Given the description of an element on the screen output the (x, y) to click on. 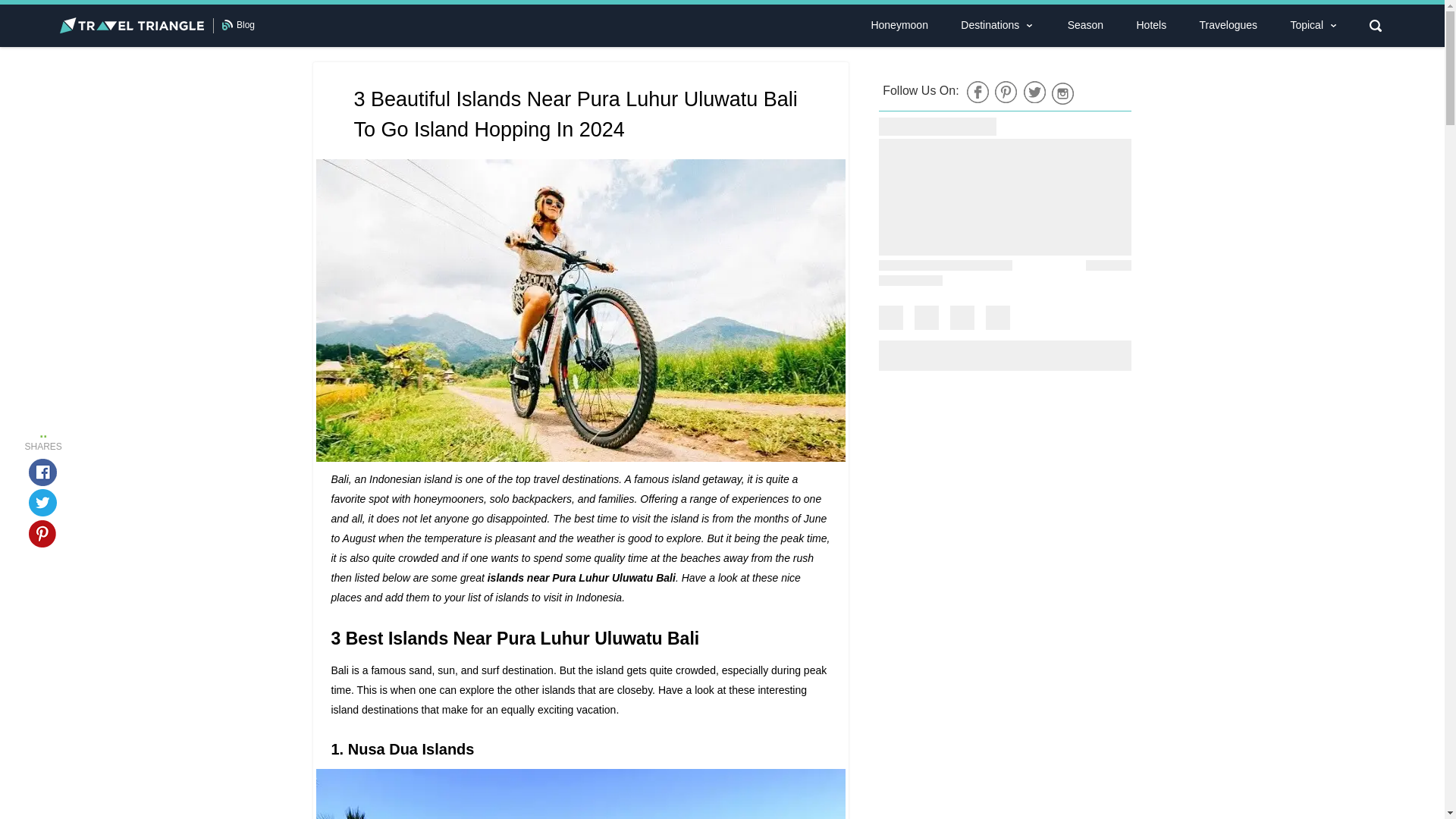
Blog (244, 24)
Destinations (988, 24)
Topical (1306, 24)
Travelogues (1228, 24)
Hotels (1150, 24)
Season (1085, 24)
Honeymoon (899, 24)
